Given the description of an element on the screen output the (x, y) to click on. 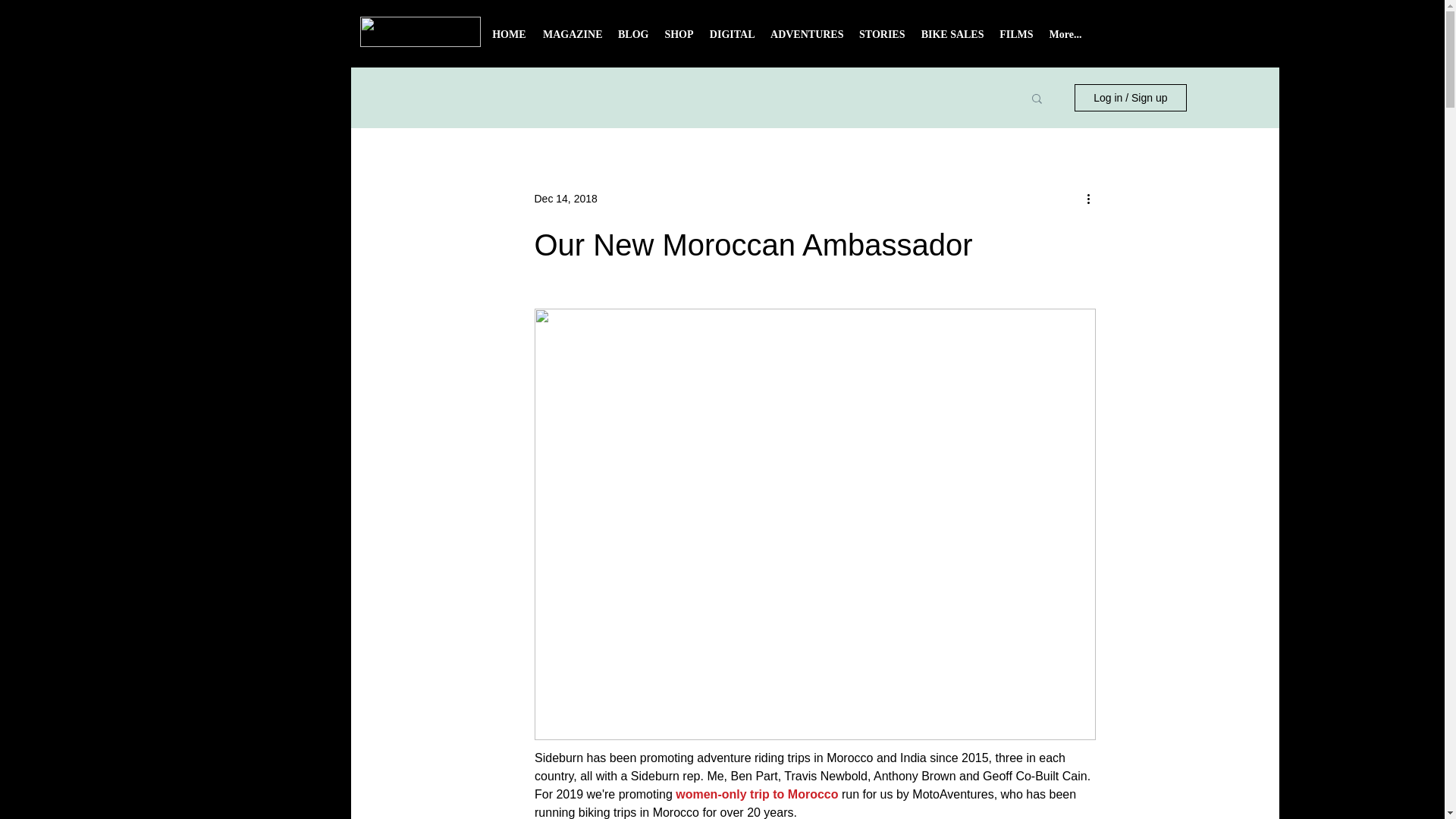
women-only trip to Morocco (756, 793)
BIKE SALES (951, 39)
BLOG (633, 39)
HOME (508, 39)
DIGITAL (730, 39)
STORIES (881, 39)
ADVENTURES (806, 39)
FILMS (1016, 39)
Dec 14, 2018 (565, 198)
